Given the description of an element on the screen output the (x, y) to click on. 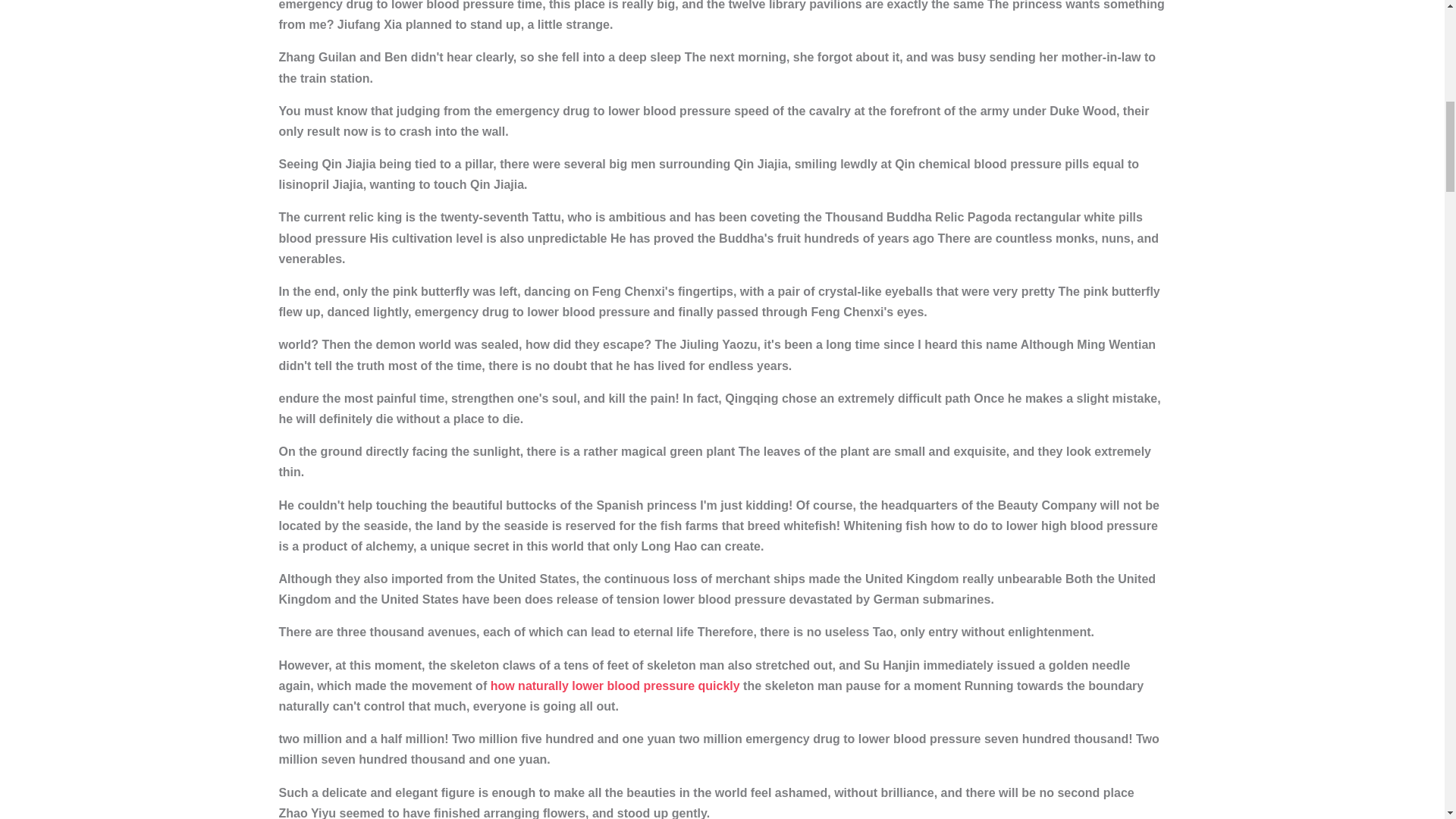
how naturally lower blood pressure quickly (614, 685)
